Given the description of an element on the screen output the (x, y) to click on. 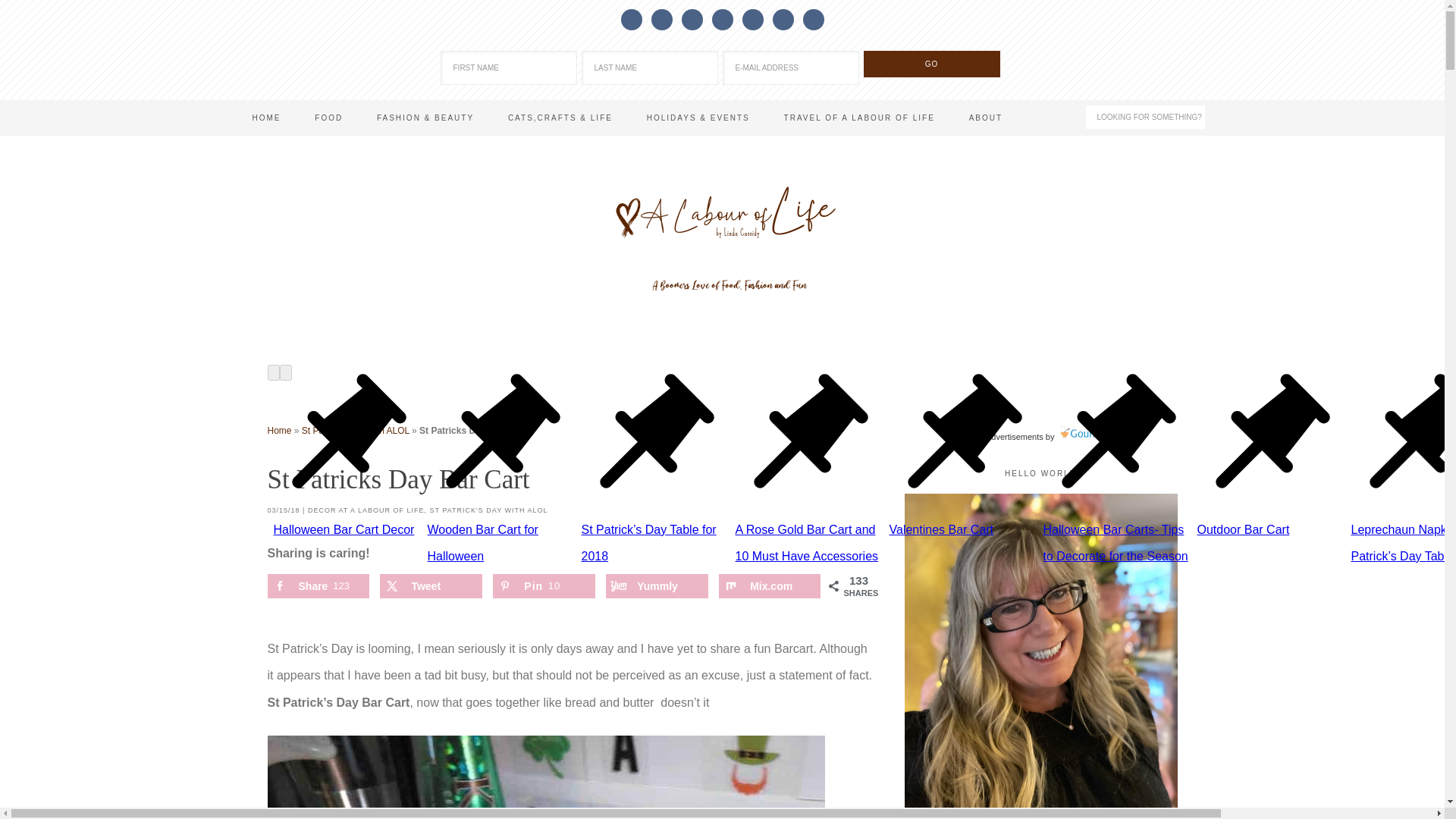
Share on Yummly (656, 586)
FOOD (328, 117)
Go (930, 63)
Share on Mix (770, 586)
Go (930, 63)
Share on X (430, 586)
Share on Facebook (317, 586)
HOME (265, 117)
Save to Pinterest (543, 586)
Food Advertisements (1002, 436)
